Given the description of an element on the screen output the (x, y) to click on. 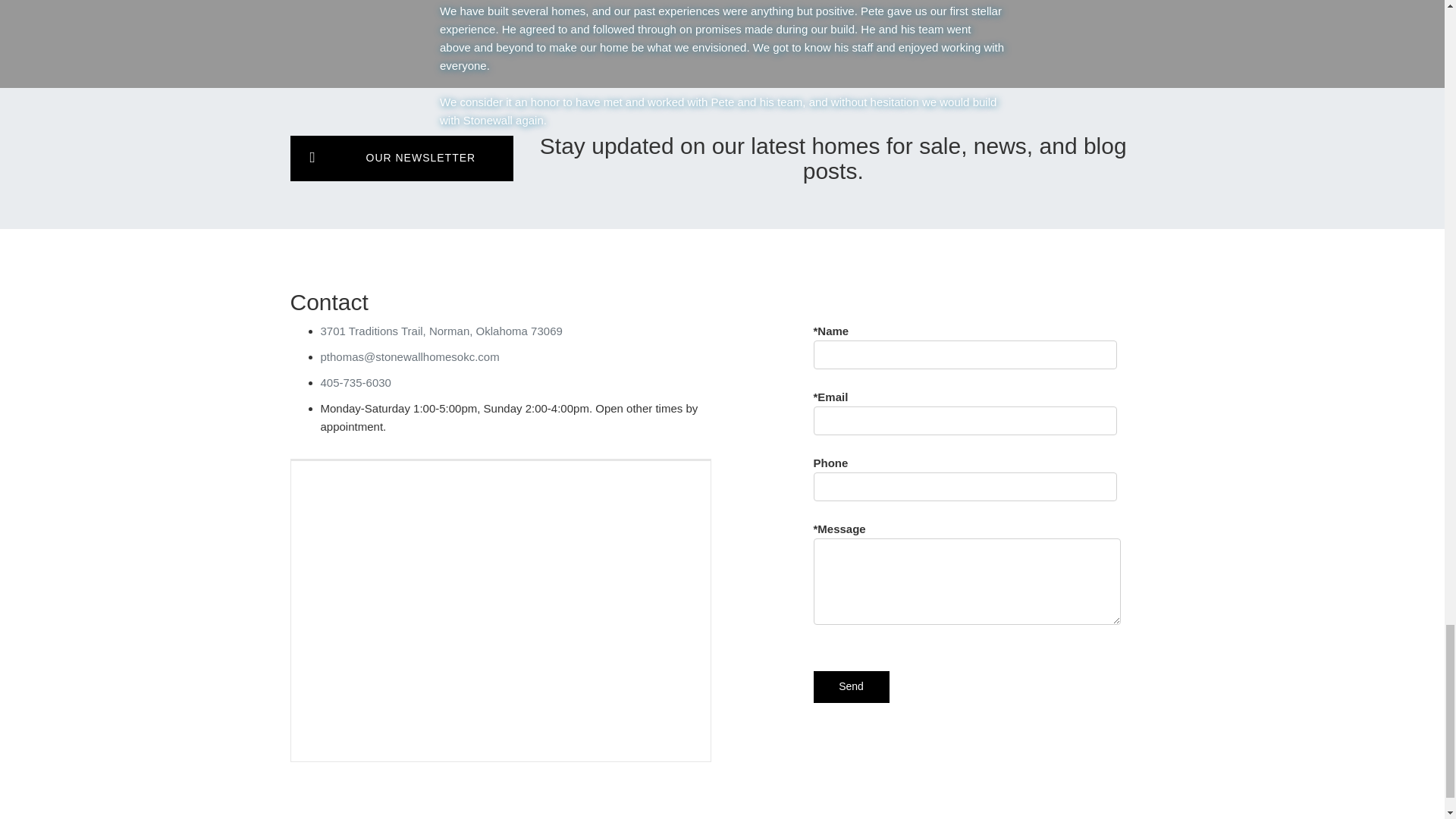
3701 Traditions Trail, Norman, Oklahoma 73069 (441, 330)
OUR NEWSLETTER (401, 157)
Send (850, 686)
405-735-6030 (355, 382)
Send (850, 686)
